Given the description of an element on the screen output the (x, y) to click on. 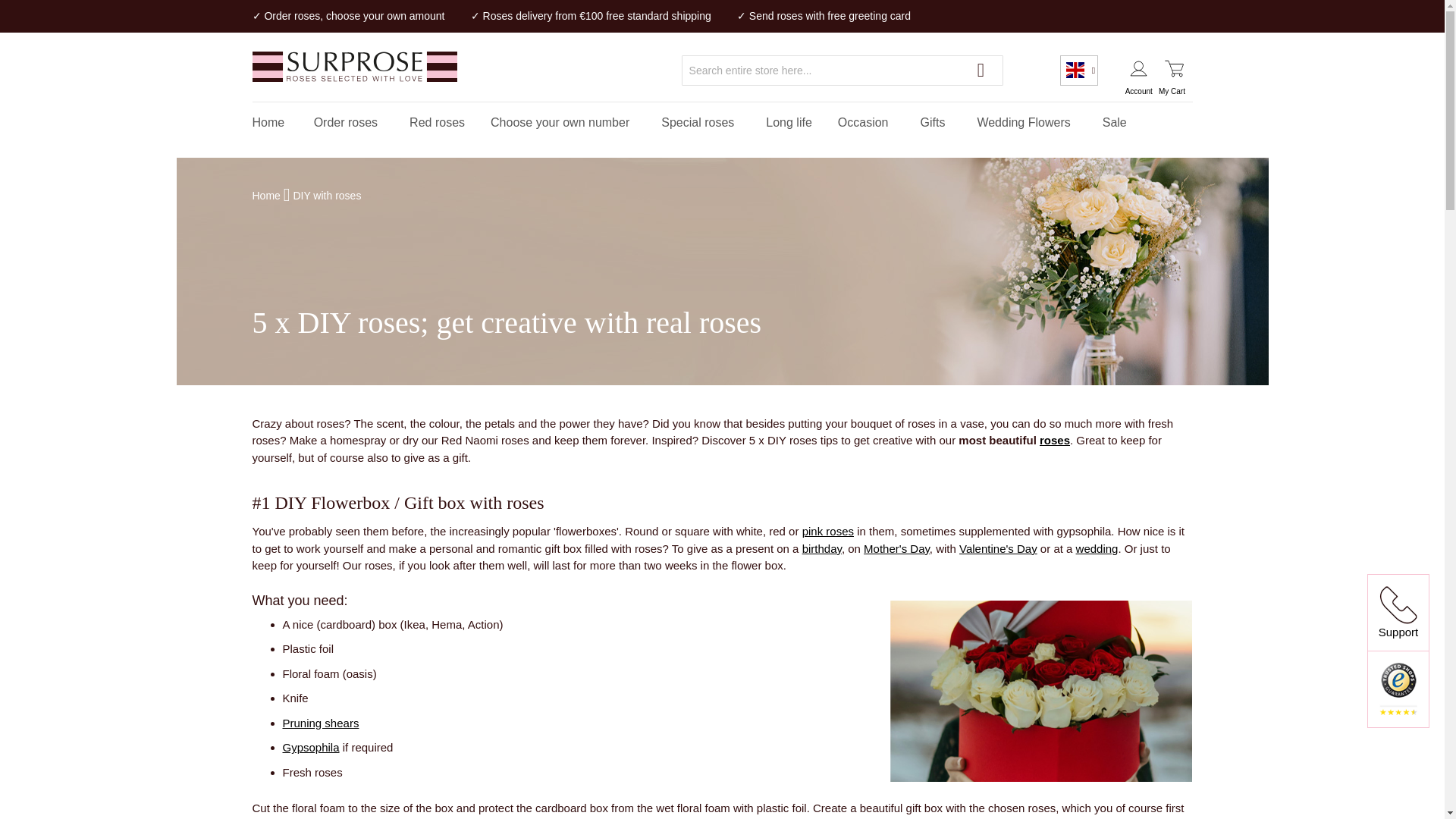
Search (980, 69)
Account (1139, 69)
Red roses (437, 121)
Blog: Mother's Day (896, 548)
Go to Home Page (266, 195)
My Cart (1173, 69)
Rose shears (320, 722)
Surprose logo (354, 69)
Wedding flowers (1096, 548)
Order roses (348, 121)
Valentine's Day (997, 548)
Home (268, 121)
Gypsophila (310, 747)
Choose your own number (563, 121)
